Given the description of an element on the screen output the (x, y) to click on. 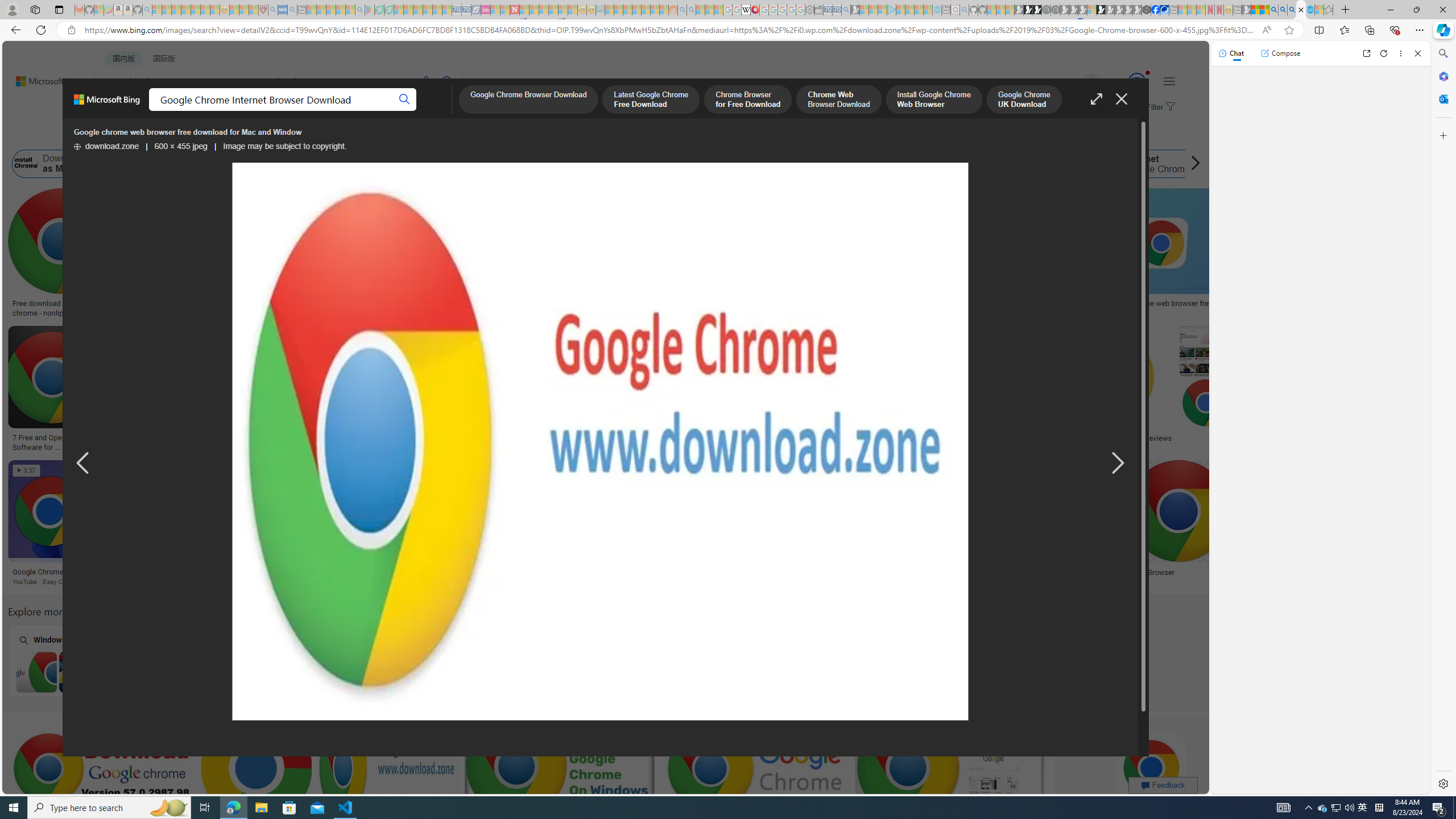
Chrome Browser Download Windows 7 (79, 671)
Chrome Browser Download Windows 10 64-Bit (370, 671)
Target page - Wikipedia (745, 9)
wizardsgase - BlogSave (846, 254)
DICT (407, 111)
Google Chrome Website Download (180, 163)
Image size (127, 135)
People (295, 135)
